Given the description of an element on the screen output the (x, y) to click on. 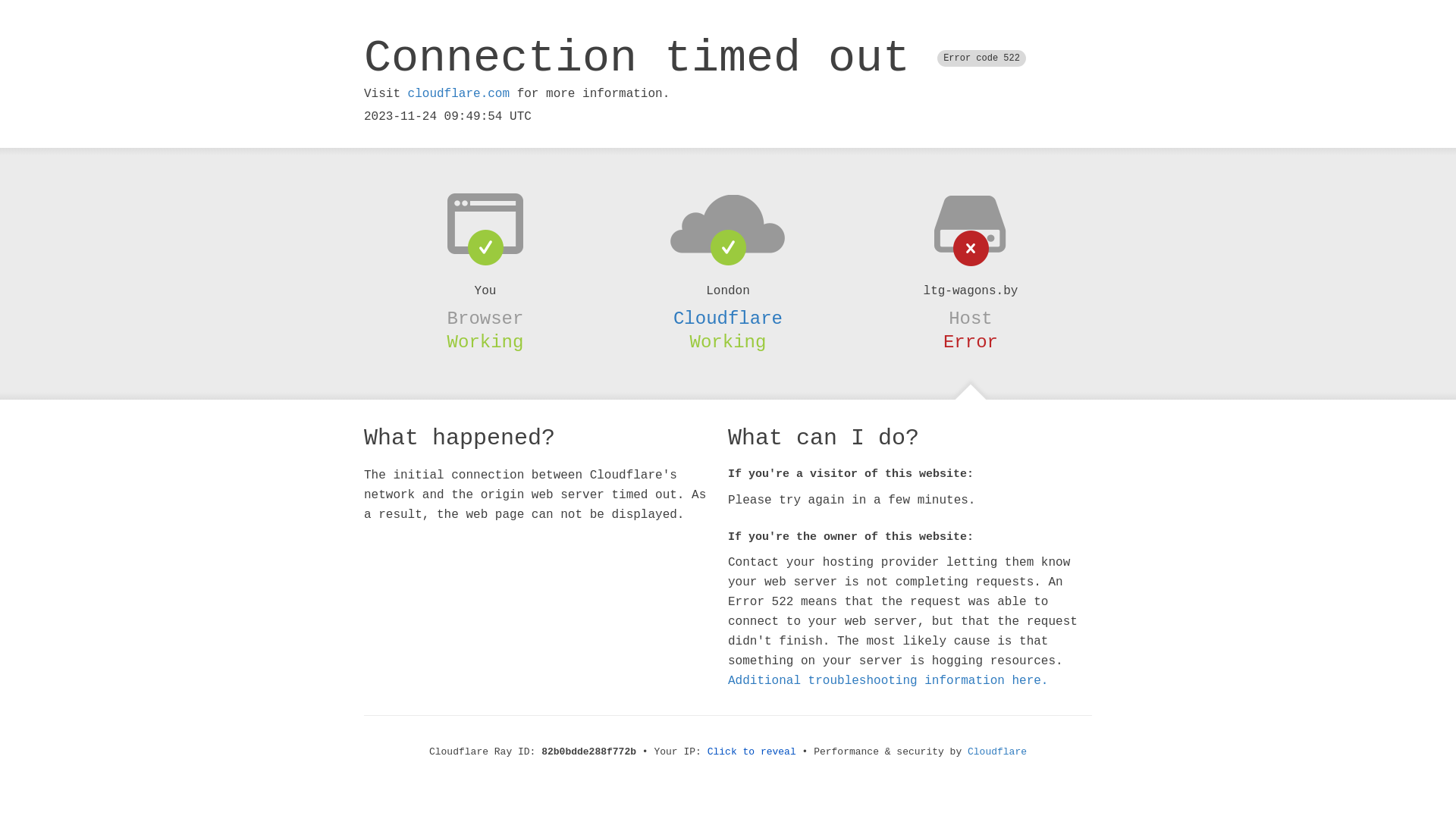
cloudflare.com Element type: text (458, 93)
Click to reveal Element type: text (751, 751)
Additional troubleshooting information here. Element type: text (888, 680)
Cloudflare Element type: text (727, 318)
Cloudflare Element type: text (996, 751)
